Given the description of an element on the screen output the (x, y) to click on. 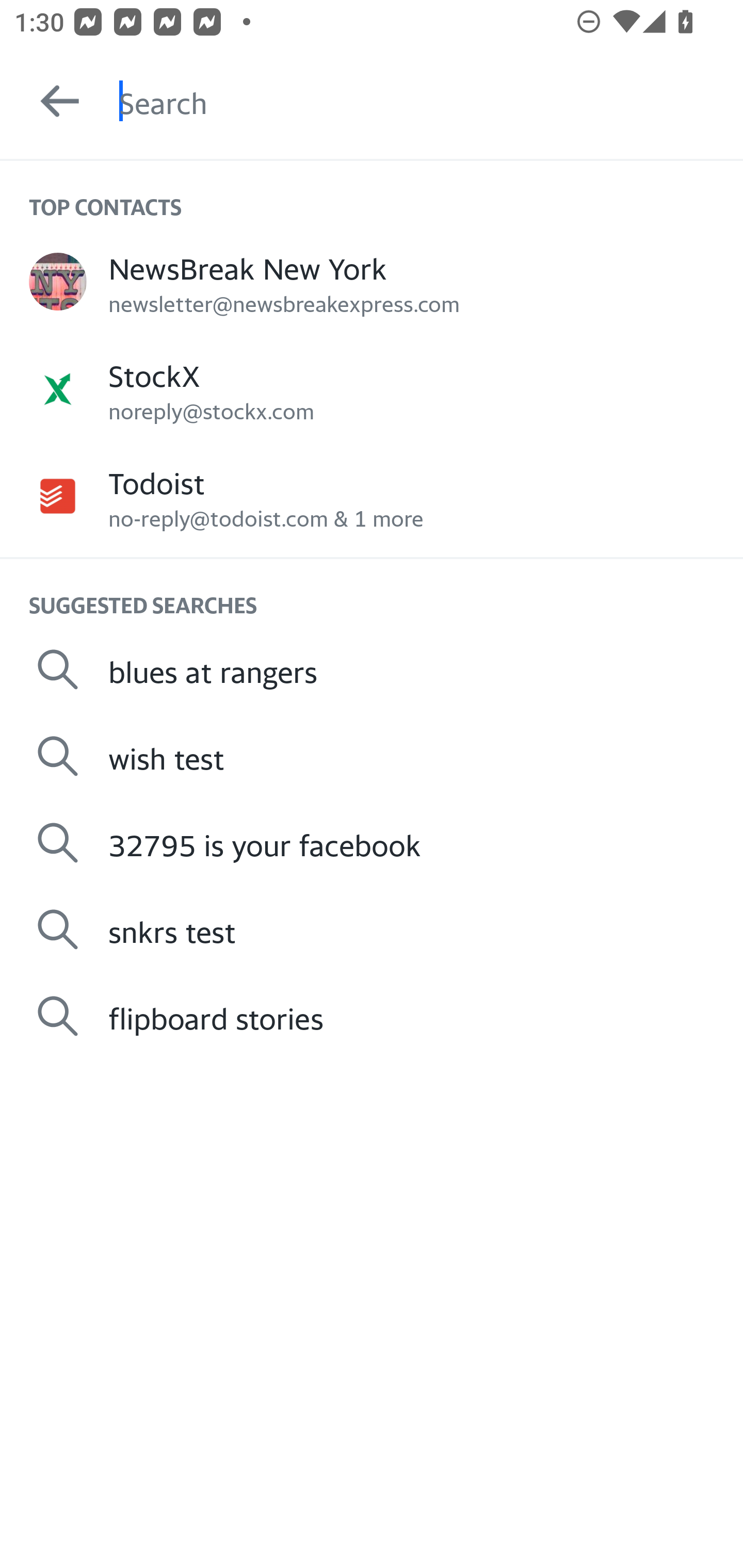
Back (50, 101)
Search (430, 101)
Top contacts StockX noreply@stockx.com (371, 388)
Top contacts Todoist no-reply@todoist.com & 1 more (371, 496)
Suggested searches blues at rangers (371, 669)
Suggested searches wish test (371, 756)
Suggested searches 32795 is your facebook (371, 842)
Suggested searches snkrs test (371, 928)
Suggested searches flipboard stories (371, 1015)
